Given the description of an element on the screen output the (x, y) to click on. 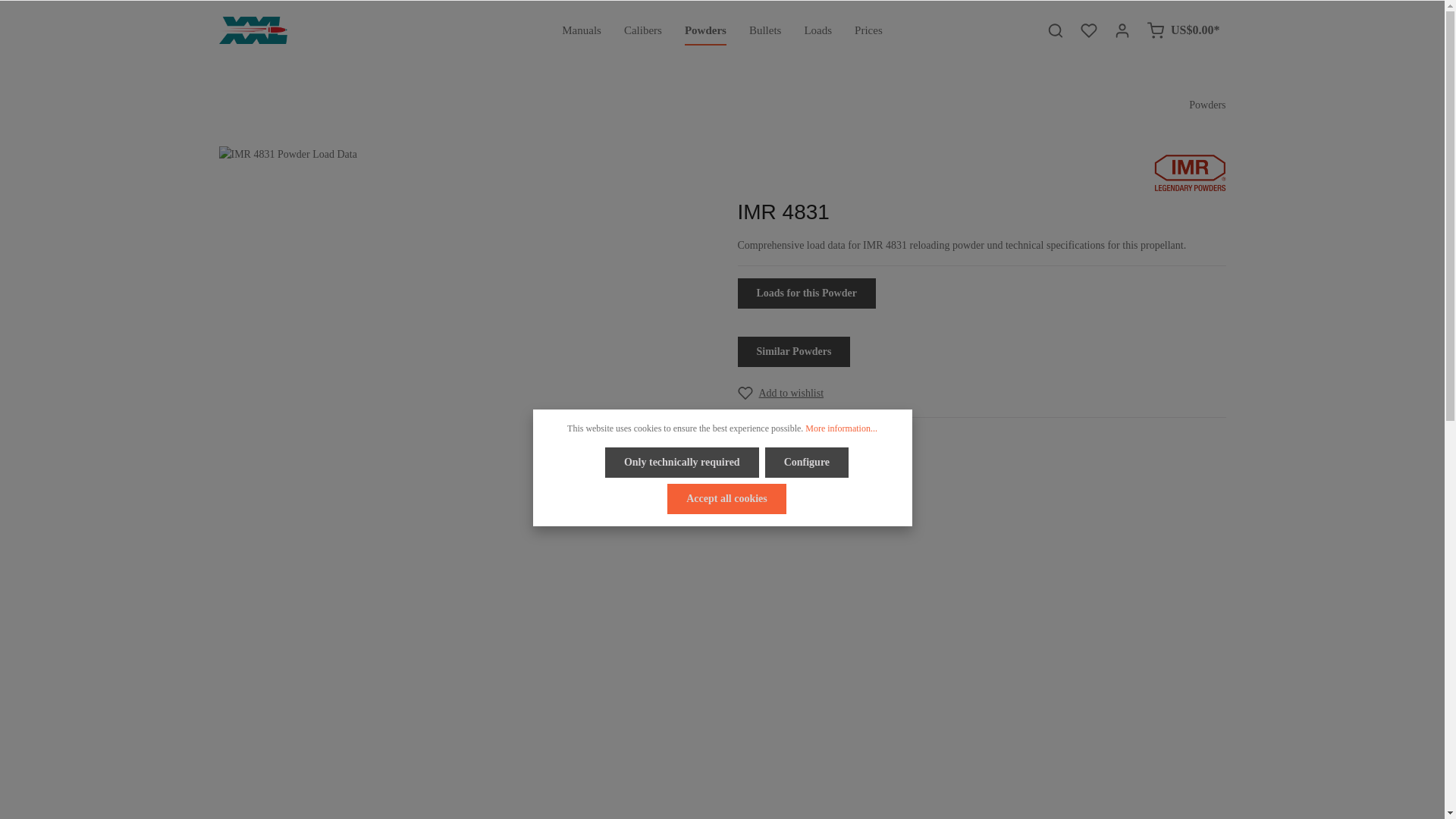
Loads (817, 30)
Go to homepage (252, 30)
Prices (868, 30)
Calibers (722, 30)
Bullets (722, 30)
Bullets (642, 30)
Loads (765, 30)
Prices (765, 30)
